Given the description of an element on the screen output the (x, y) to click on. 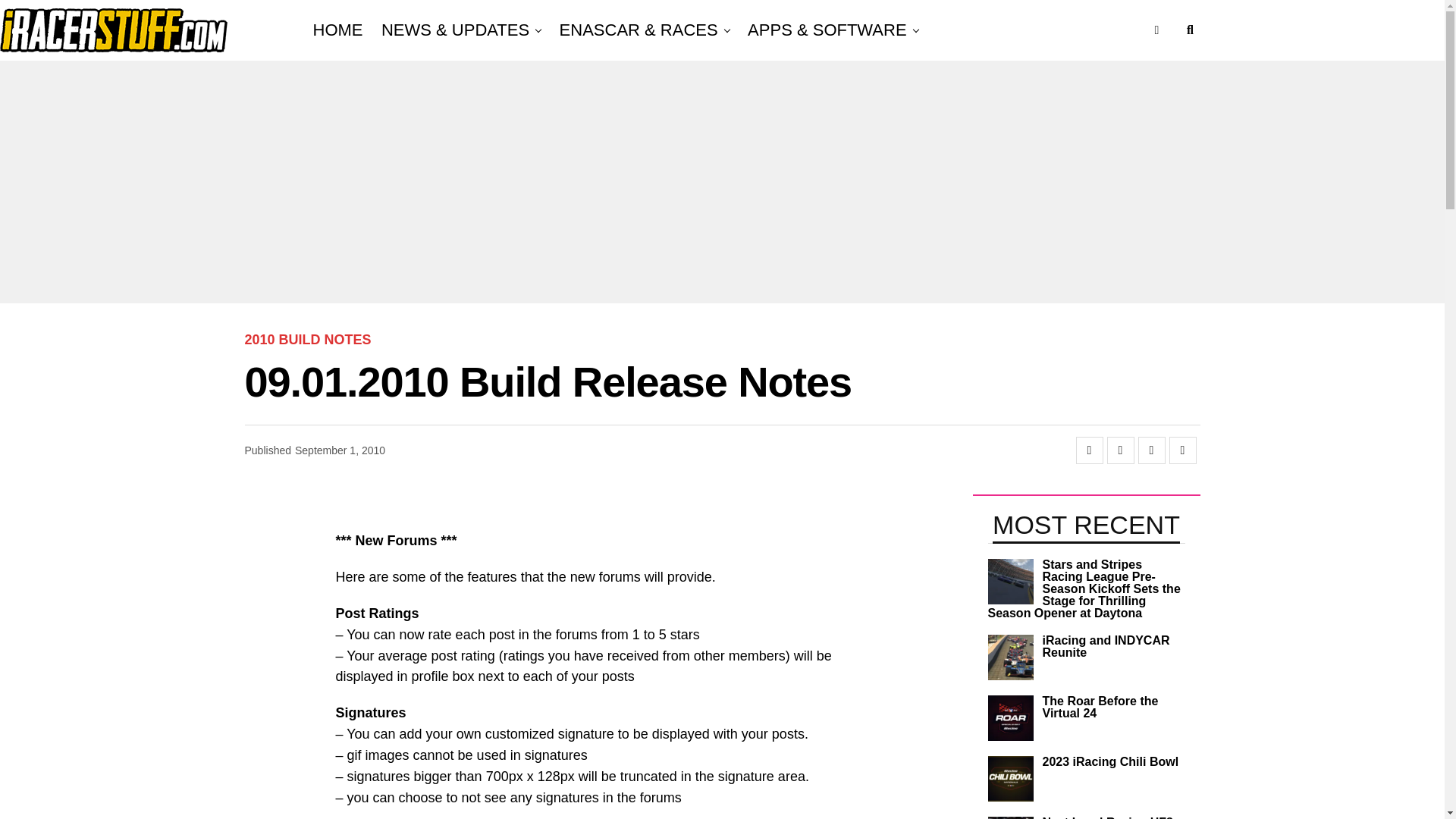
Tweet This Post (1120, 450)
HOME (341, 30)
Share on Facebook (1088, 450)
